Given the description of an element on the screen output the (x, y) to click on. 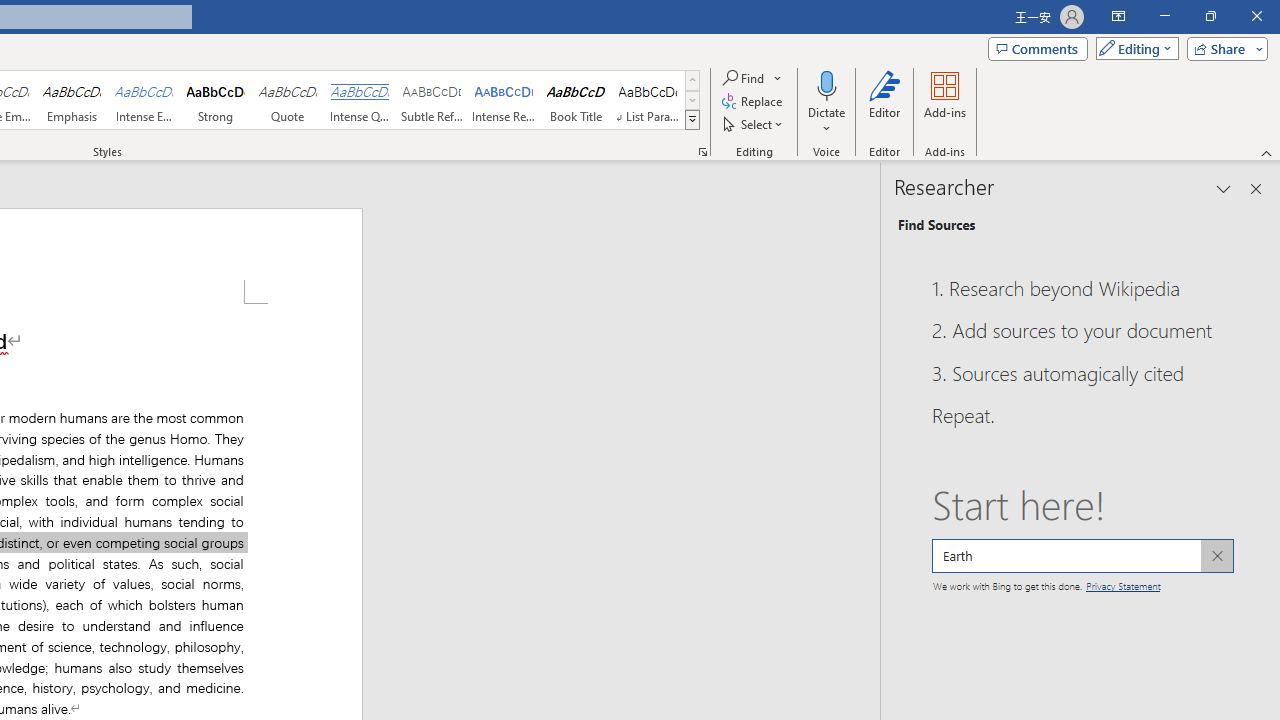
Dictate (826, 102)
Select (754, 124)
Class: NetUIImage (692, 119)
Styles... (702, 151)
Editor (885, 102)
More Options (826, 121)
Row up (692, 79)
